Given the description of an element on the screen output the (x, y) to click on. 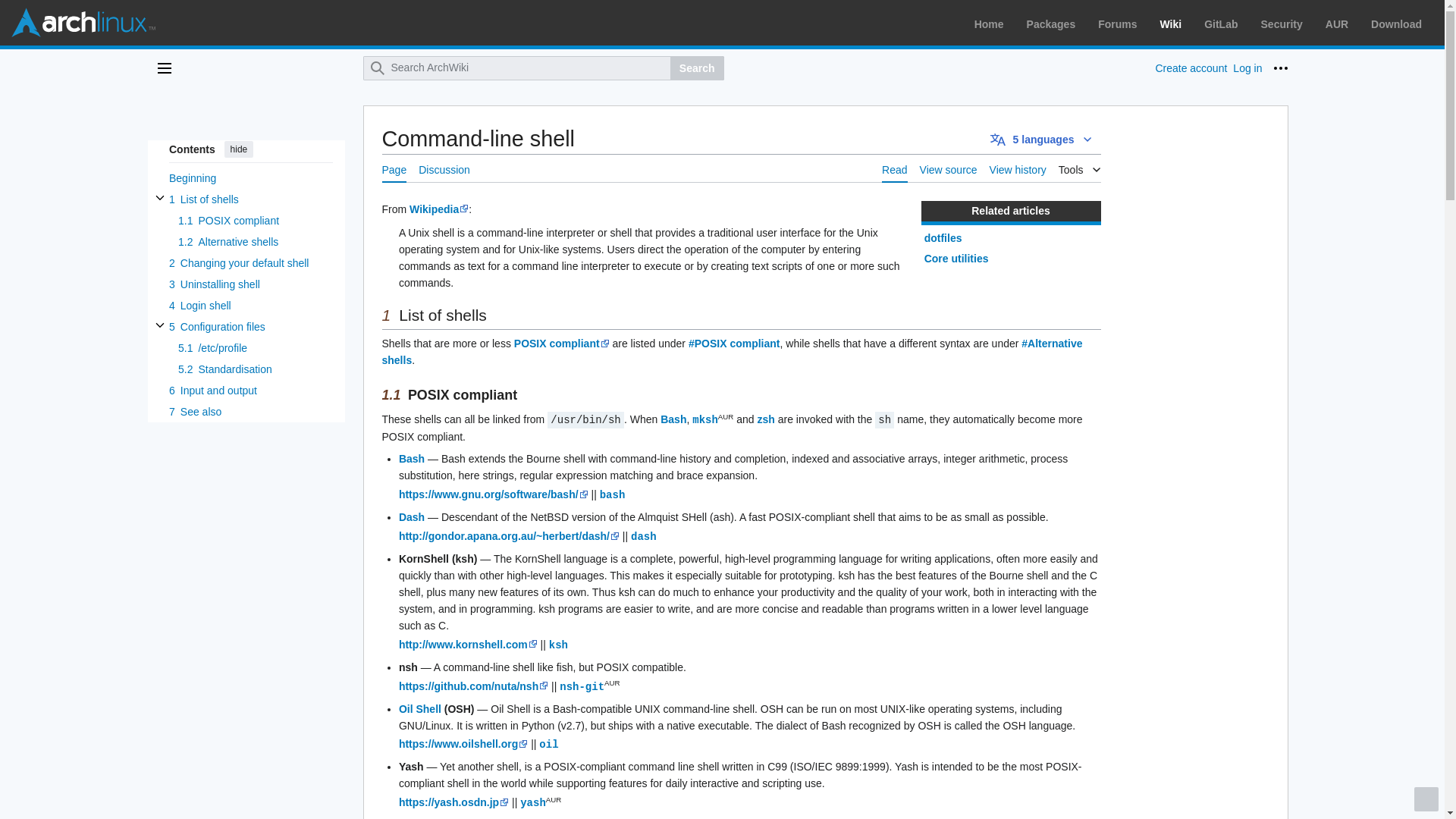
Forums (1117, 24)
More options (1280, 68)
1.2Alternative shells (254, 241)
Toggle List of shells subsection (159, 197)
GitLab (1220, 24)
hide (238, 149)
Create account (1190, 68)
Beginning (249, 178)
Security (1281, 24)
Wiki (1171, 24)
Download (1396, 24)
1.1POSIX compliant (254, 219)
Home (989, 24)
Log in (1247, 68)
